Given the description of an element on the screen output the (x, y) to click on. 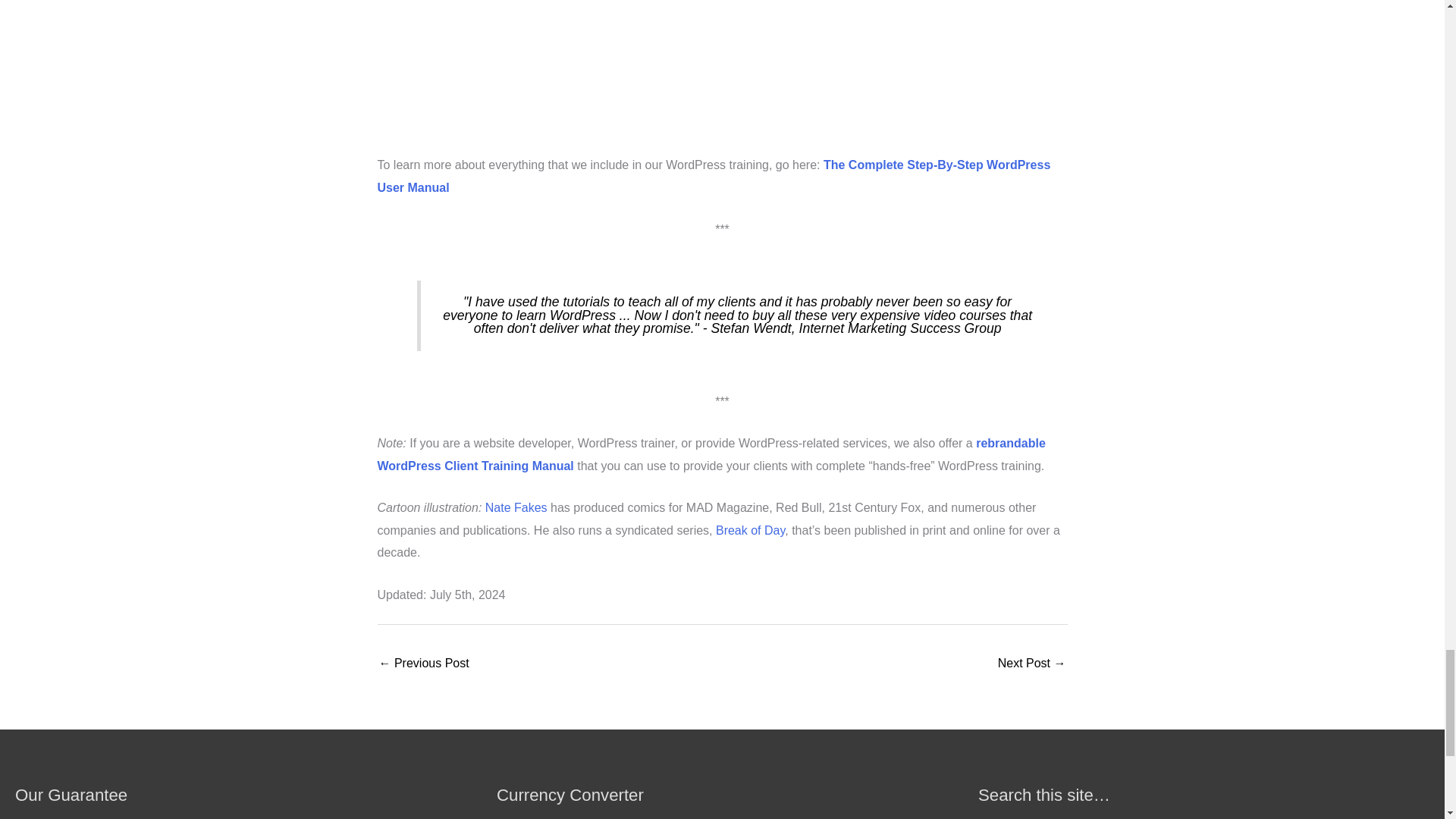
The Complete Step-By-Step WordPress User Manual (722, 76)
Search (1411, 812)
WordPress 5.8 (423, 651)
Search (1411, 812)
